Given the description of an element on the screen output the (x, y) to click on. 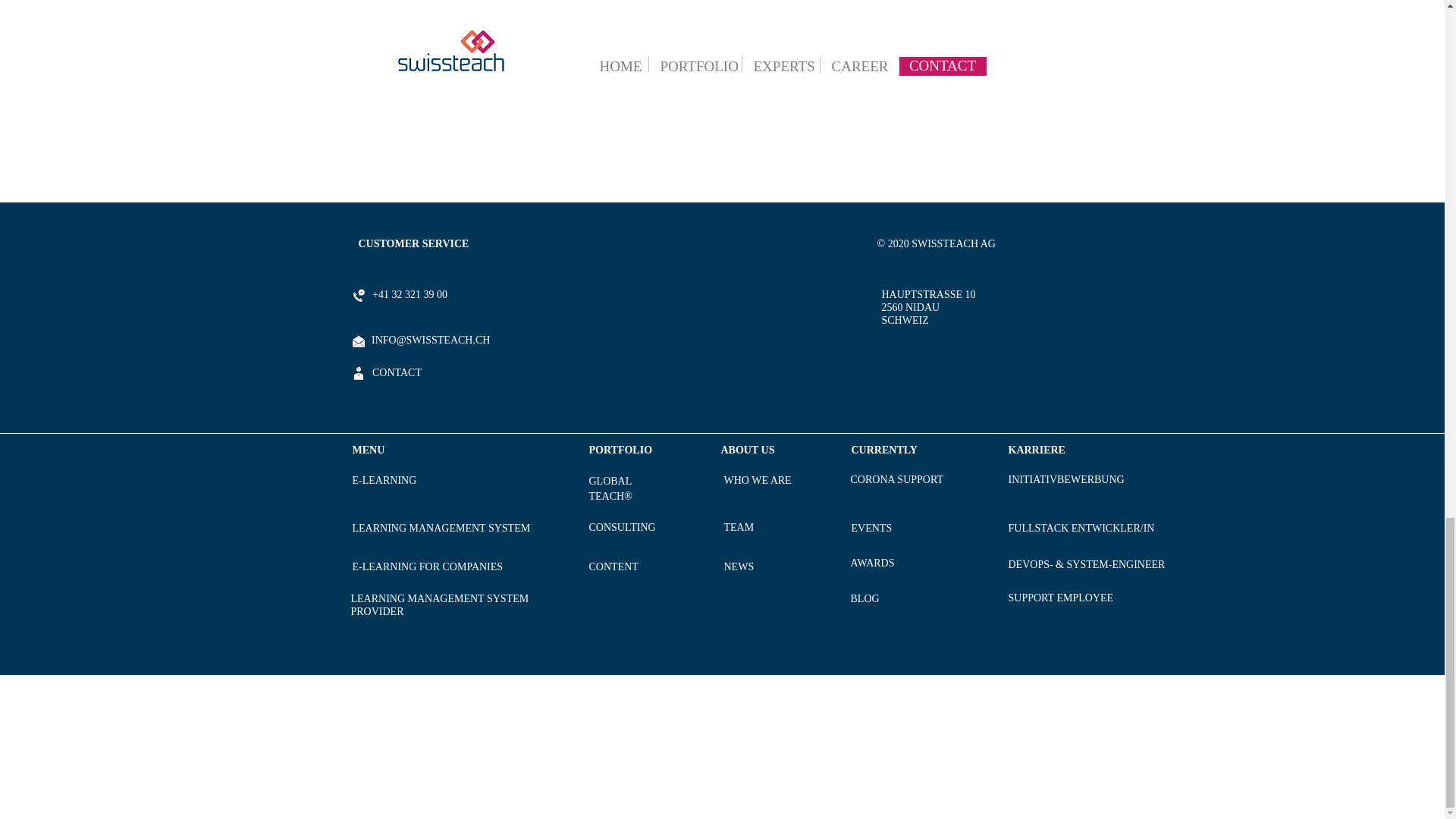
LEARNING MANAGEMENT SYSTEM (440, 527)
CUSTOMER SERVICE (413, 243)
BACK TO OVERVIEW (720, 60)
WHO WE ARE (756, 480)
E-LEARNING (384, 480)
CONSULTING (621, 526)
LEARNING MANAGEMENT SYSTEM PROVIDER (439, 604)
INITIATIVBEWERBUNG (1066, 479)
 CONTACT (395, 372)
E-LEARNING FOR COMPANIES (427, 566)
CORONA SUPPORT (896, 479)
